Given the description of an element on the screen output the (x, y) to click on. 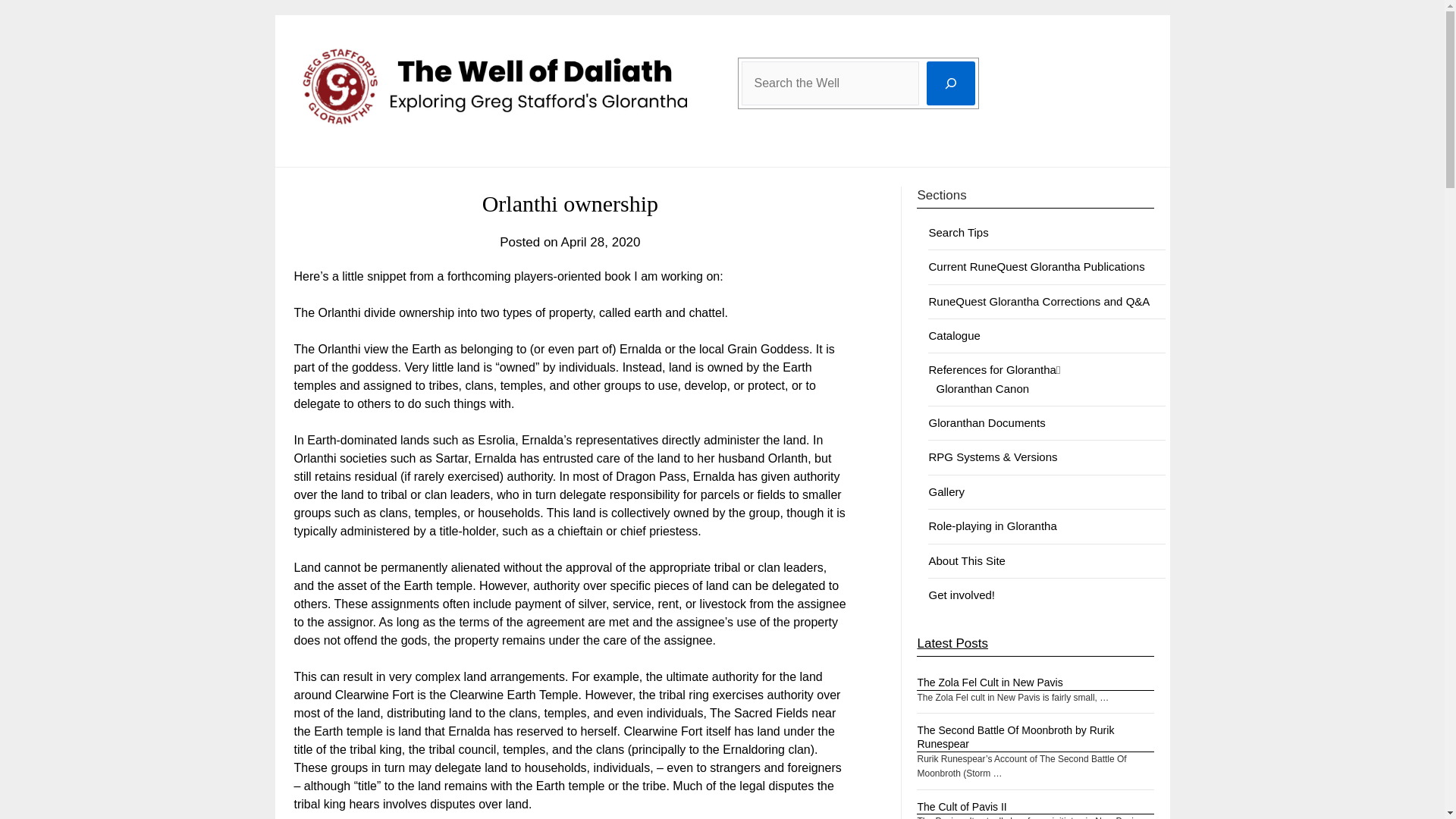
Gloranthan Canon (982, 388)
The Cult of Pavis II (961, 806)
The Zola Fel Cult in New Pavis (989, 682)
Gloranthan Documents (986, 422)
Gallery (945, 491)
Role-playing in Glorantha (992, 525)
About This Site (966, 560)
References for Glorantha (991, 369)
Search Tips (958, 232)
Latest Posts (952, 643)
Get involved! (961, 594)
Latest Posts (952, 643)
The Second Battle Of Moonbroth by Rurik Runespear (1015, 736)
Current RuneQuest Glorantha Publications (1036, 266)
Catalogue (953, 335)
